Given the description of an element on the screen output the (x, y) to click on. 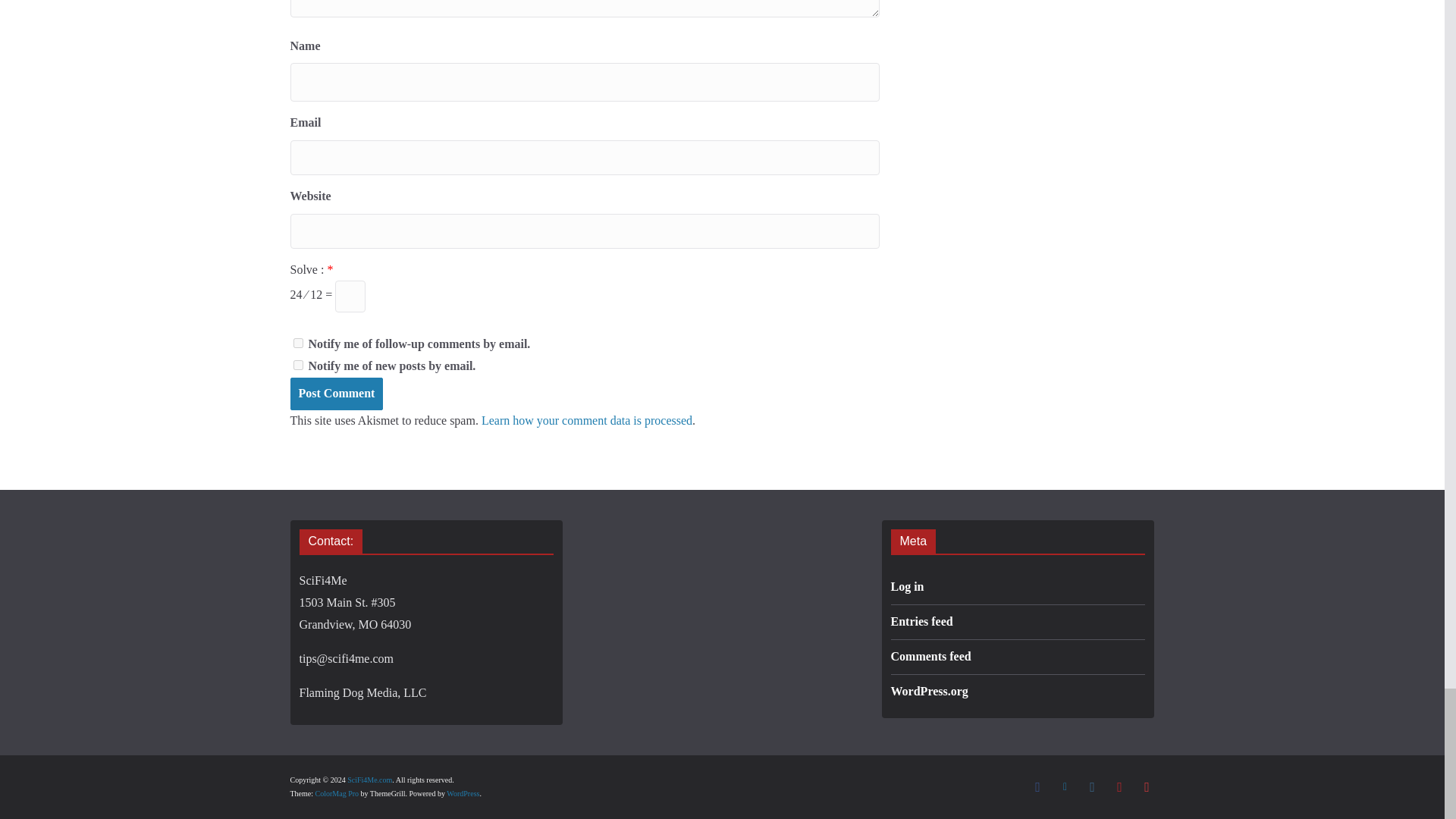
Post Comment (335, 393)
subscribe (297, 365)
subscribe (297, 343)
